Given the description of an element on the screen output the (x, y) to click on. 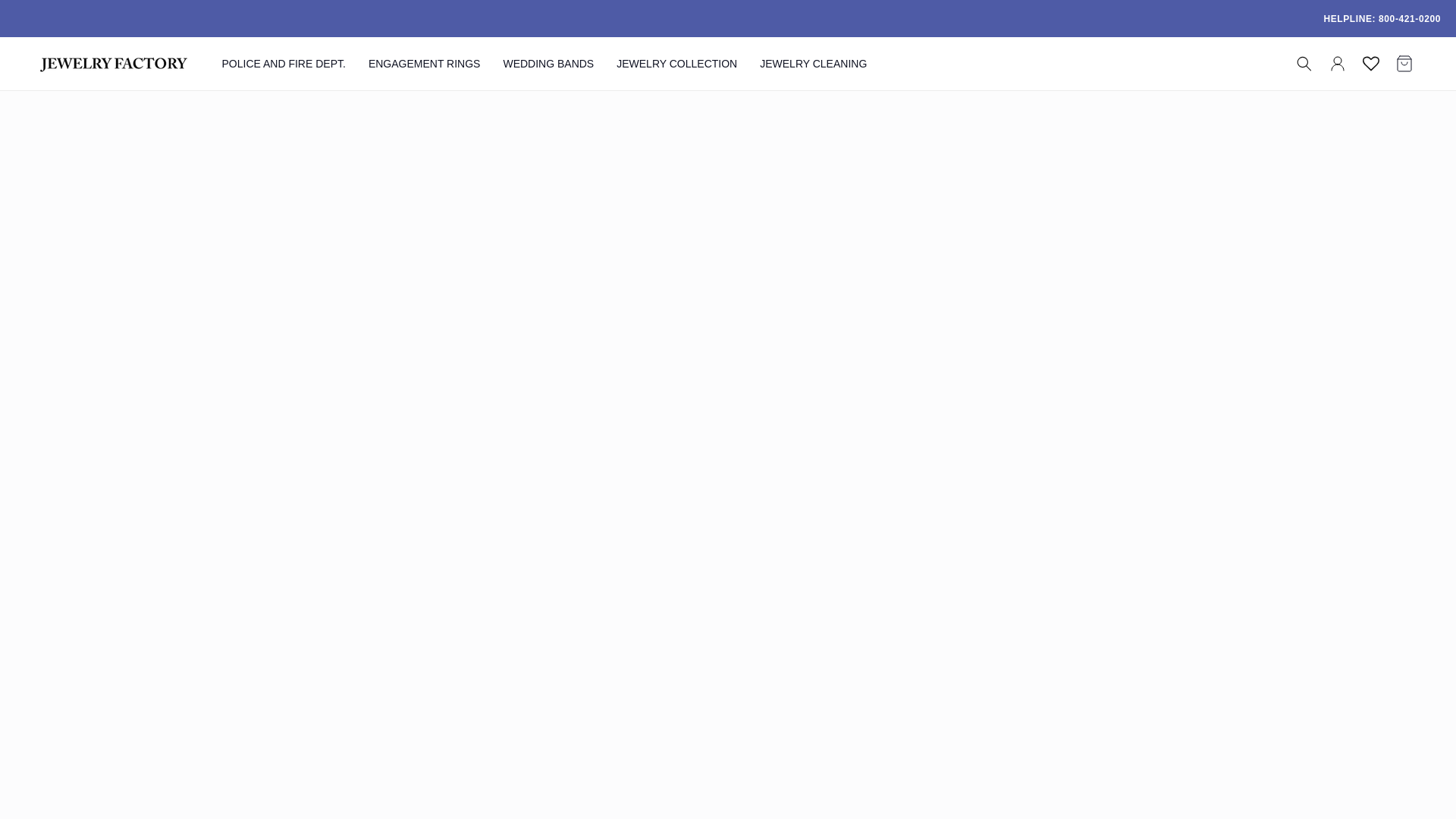
Skip to content (45, 17)
